Given the description of an element on the screen output the (x, y) to click on. 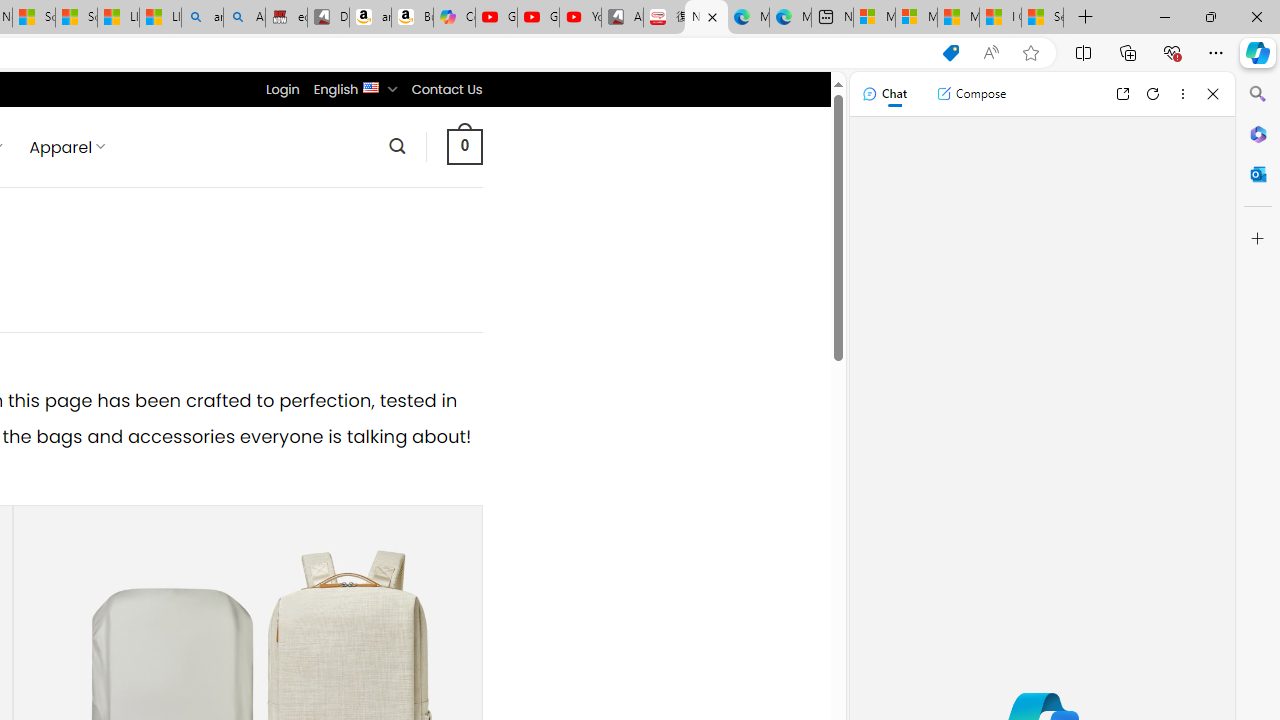
Copilot (453, 17)
Compose (971, 93)
